Given the description of an element on the screen output the (x, y) to click on. 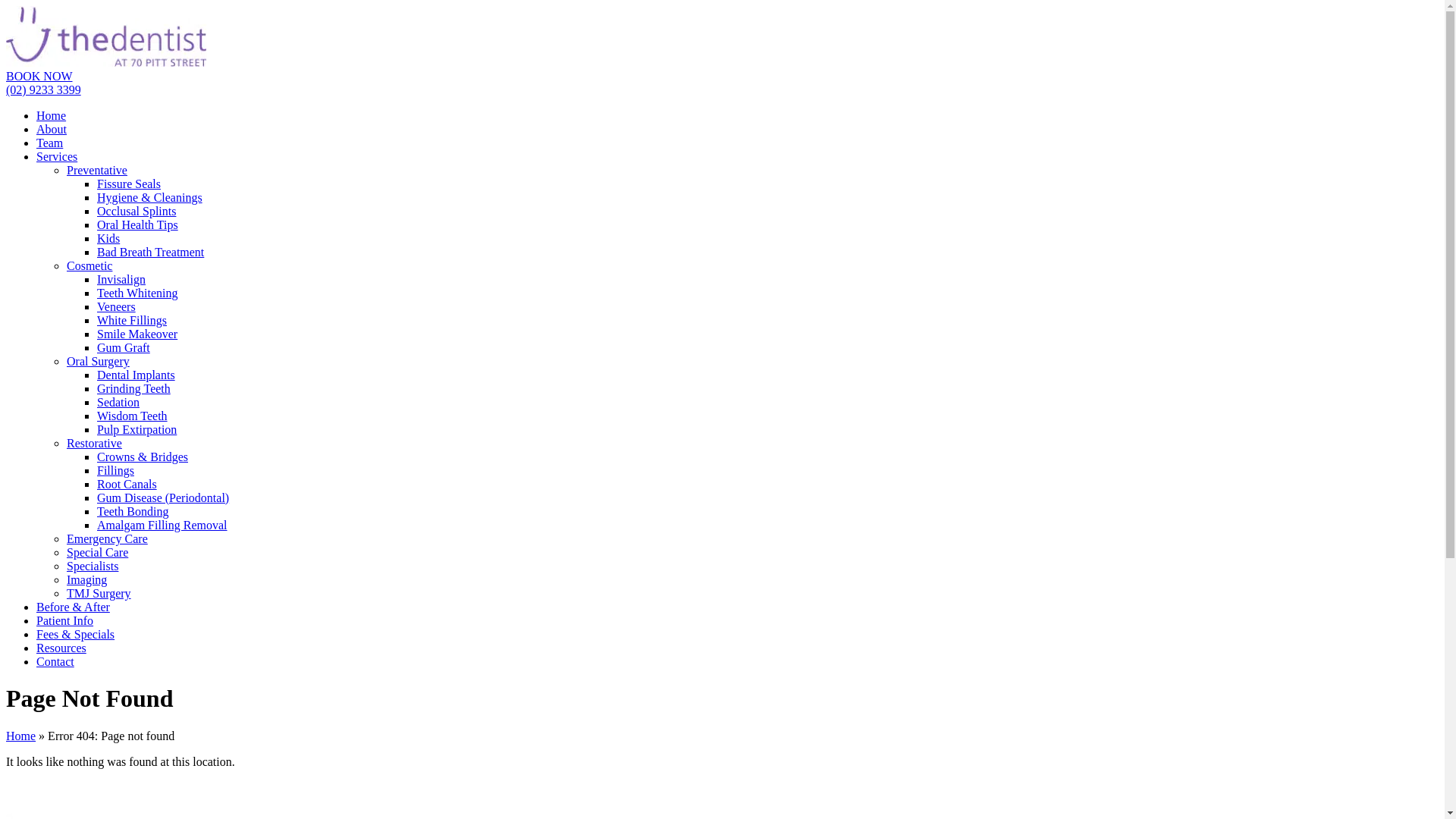
Contact Element type: text (55, 661)
Grinding Teeth Element type: text (133, 388)
Team Element type: text (49, 142)
Wisdom Teeth Element type: text (132, 415)
Home Element type: text (50, 115)
Patient Info Element type: text (64, 620)
Veneers Element type: text (116, 306)
Teeth Bonding Element type: text (132, 511)
Occlusal Splints Element type: text (136, 210)
Emergency Care Element type: text (106, 538)
Root Canals Element type: text (126, 483)
Amalgam Filling Removal Element type: text (162, 524)
Crowns & Bridges Element type: text (142, 456)
Smile Makeover Element type: text (137, 333)
Special Care Element type: text (97, 552)
Kids Element type: text (108, 238)
Services Element type: text (56, 156)
Fillings Element type: text (115, 470)
Bad Breath Treatment Element type: text (150, 251)
Specialists Element type: text (92, 565)
Cosmetic Element type: text (89, 265)
Hygiene & Cleanings Element type: text (149, 197)
Fees & Specials Element type: text (75, 633)
TMJ Surgery Element type: text (98, 592)
Invisalign Element type: text (121, 279)
Sedation Element type: text (118, 401)
About Element type: text (51, 128)
Oral Health Tips Element type: text (137, 224)
(02) 9233 3399 Element type: text (43, 89)
Preventative Element type: text (96, 169)
BOOK NOW Element type: text (39, 75)
Dental Implants Element type: text (136, 374)
White Fillings Element type: text (131, 319)
Teeth Whitening Element type: text (137, 292)
Oral Surgery Element type: text (97, 360)
Restorative Element type: text (94, 442)
Fissure Seals Element type: text (128, 183)
Gum Graft Element type: text (123, 347)
Home Element type: text (20, 735)
Resources Element type: text (61, 647)
Before & After Element type: text (72, 606)
Pulp Extirpation Element type: text (136, 429)
Gum Disease (Periodontal) Element type: text (163, 497)
Imaging Element type: text (86, 579)
